Given the description of an element on the screen output the (x, y) to click on. 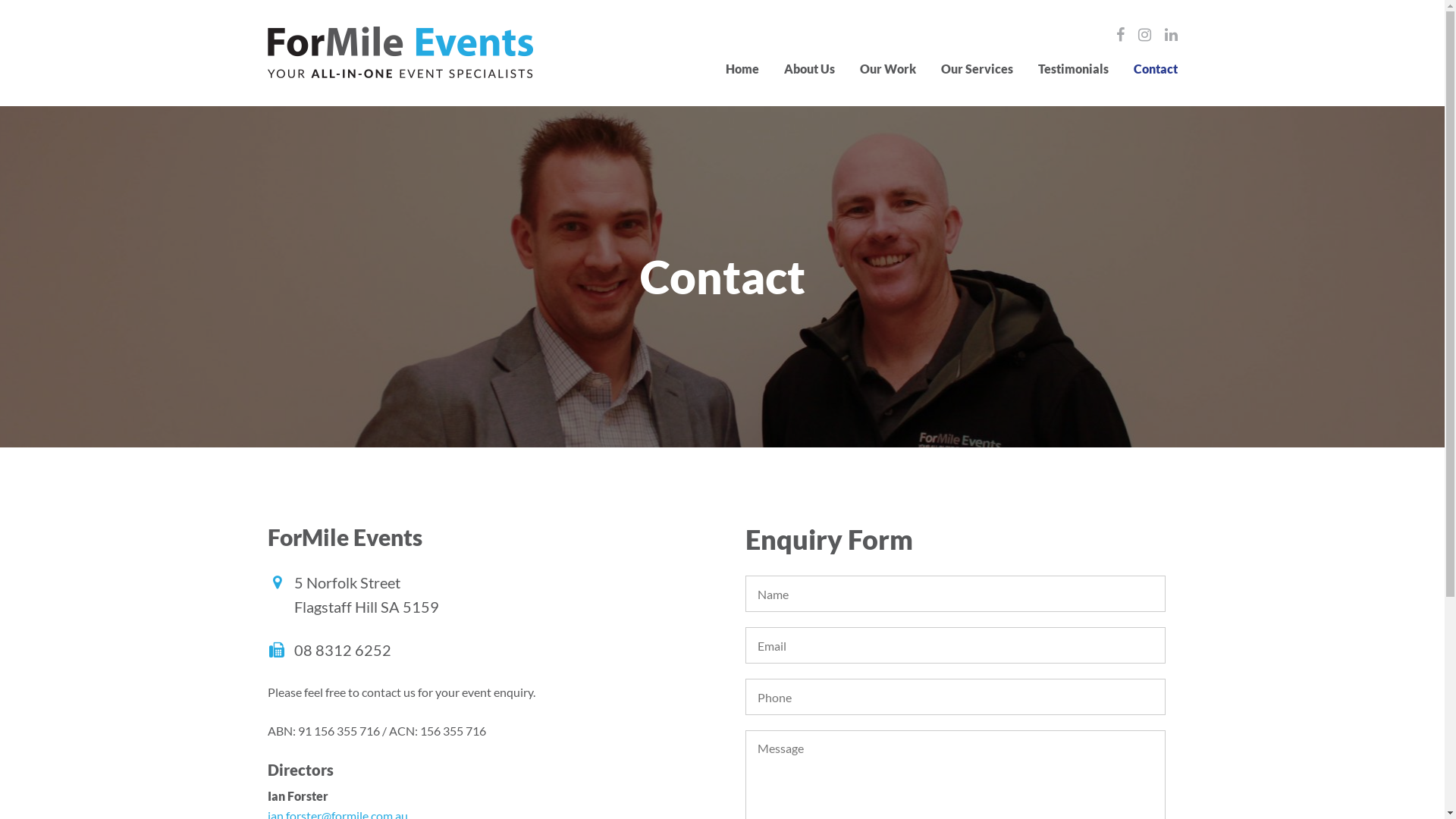
Our Services Element type: text (976, 68)
Contact Element type: text (1154, 68)
About Us Element type: text (809, 68)
Home Element type: text (741, 68)
Our Work Element type: text (887, 68)
Testimonials Element type: text (1072, 68)
